Given the description of an element on the screen output the (x, y) to click on. 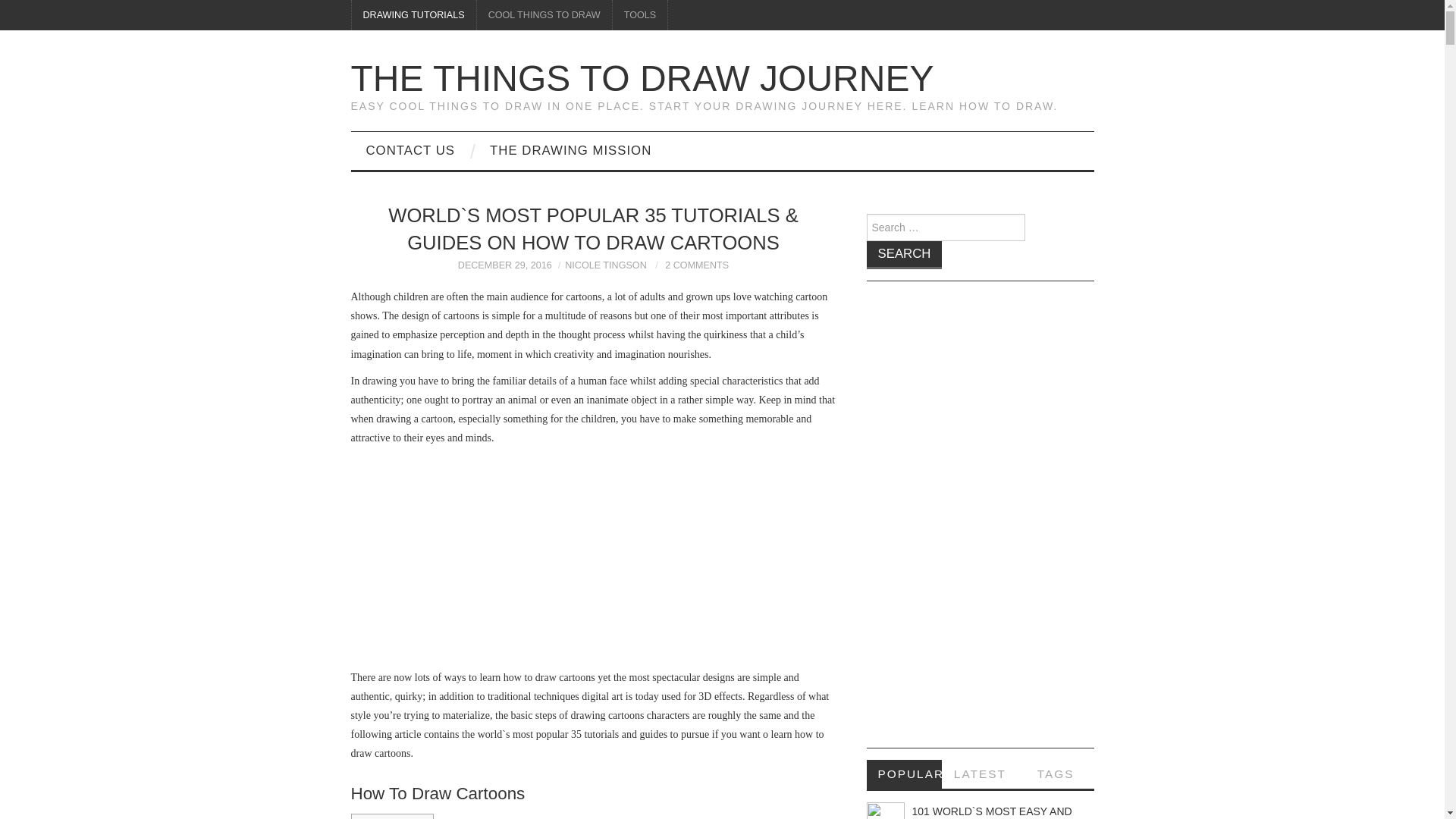
CONTACT US (410, 150)
DRAWING TUTORIALS (414, 15)
Search for: (945, 226)
NICOLE TINGSON (605, 265)
DECEMBER 29, 2016 (504, 265)
COOL THINGS TO DRAW (544, 15)
TOOLS (639, 15)
Advertisement (592, 561)
The Things to Draw Journey (641, 78)
THE THINGS TO DRAW JOURNEY (641, 78)
Search (904, 254)
2 COMMENTS (697, 265)
THE DRAWING MISSION (570, 150)
Search (904, 254)
